Given the description of an element on the screen output the (x, y) to click on. 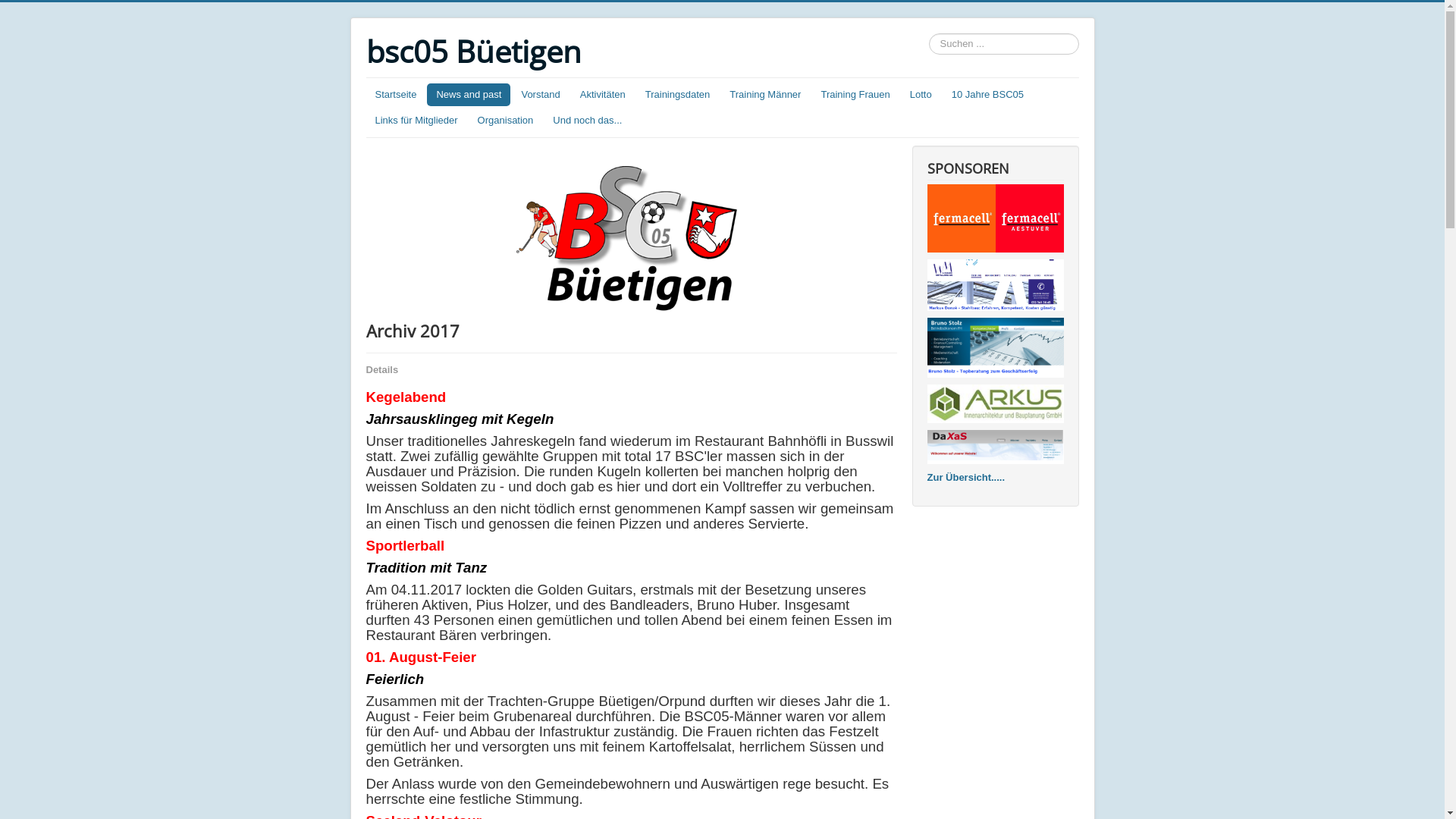
News and past Element type: text (468, 94)
Training Frauen Element type: text (854, 94)
Und noch das... Element type: text (586, 120)
Trainingsdaten Element type: text (677, 94)
10 Jahre BSC05 Element type: text (987, 94)
Startseite Element type: text (395, 94)
Markus Burri - Bauen ohne Stress bis zum Schluss Element type: hover (994, 402)
Lotto Element type: text (920, 94)
Vorstand Element type: text (539, 94)
Organisation Element type: text (505, 120)
